Given the description of an element on the screen output the (x, y) to click on. 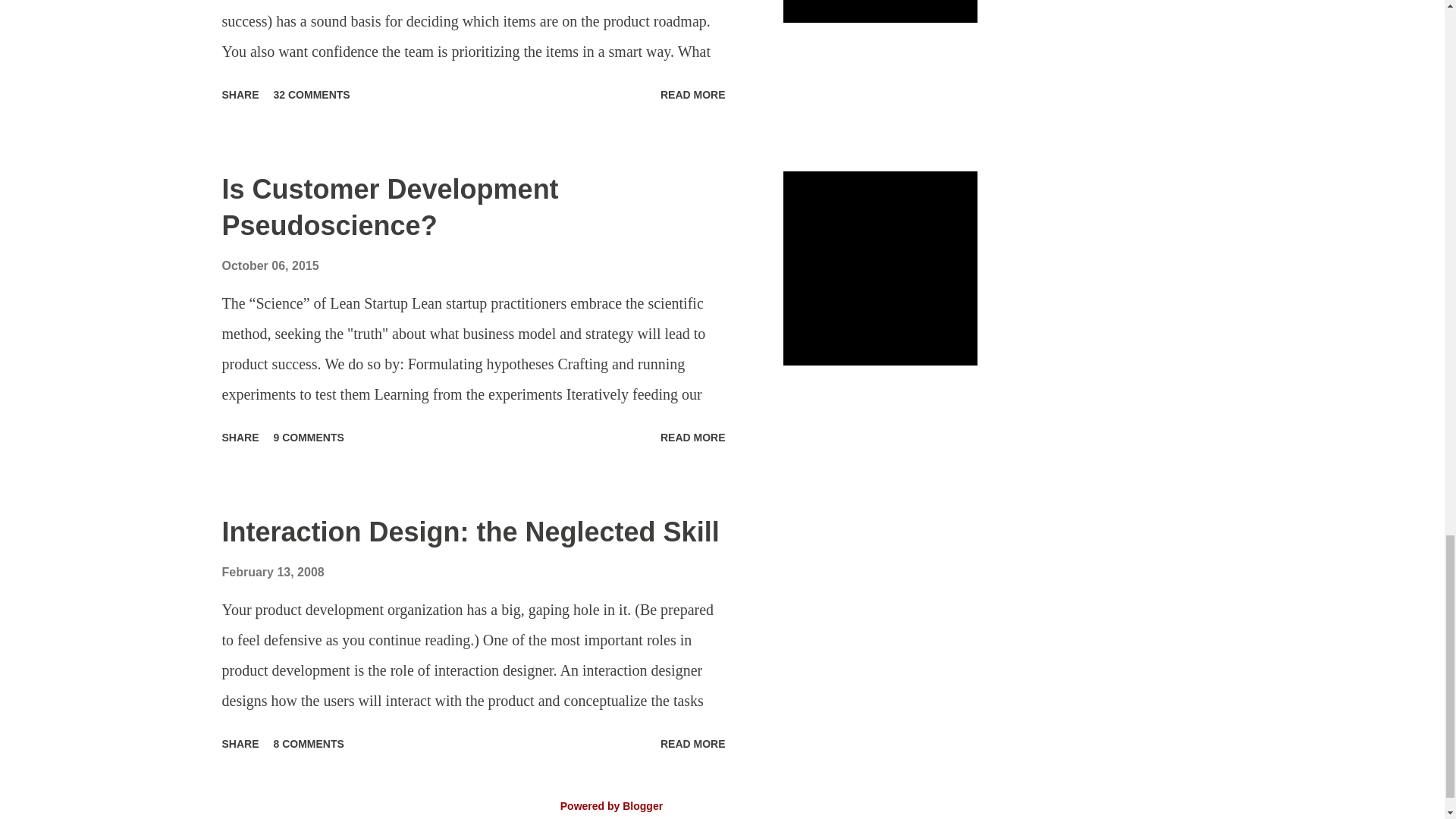
8 COMMENTS (308, 743)
READ MORE (692, 94)
READ MORE (692, 743)
SHARE (239, 743)
Is Customer Development Pseudoscience? (389, 206)
SHARE (239, 437)
October 06, 2015 (269, 265)
Interaction Design: the Neglected Skill (470, 531)
READ MORE (692, 437)
32 COMMENTS (311, 94)
February 13, 2008 (272, 571)
SHARE (239, 94)
9 COMMENTS (308, 437)
